Given the description of an element on the screen output the (x, y) to click on. 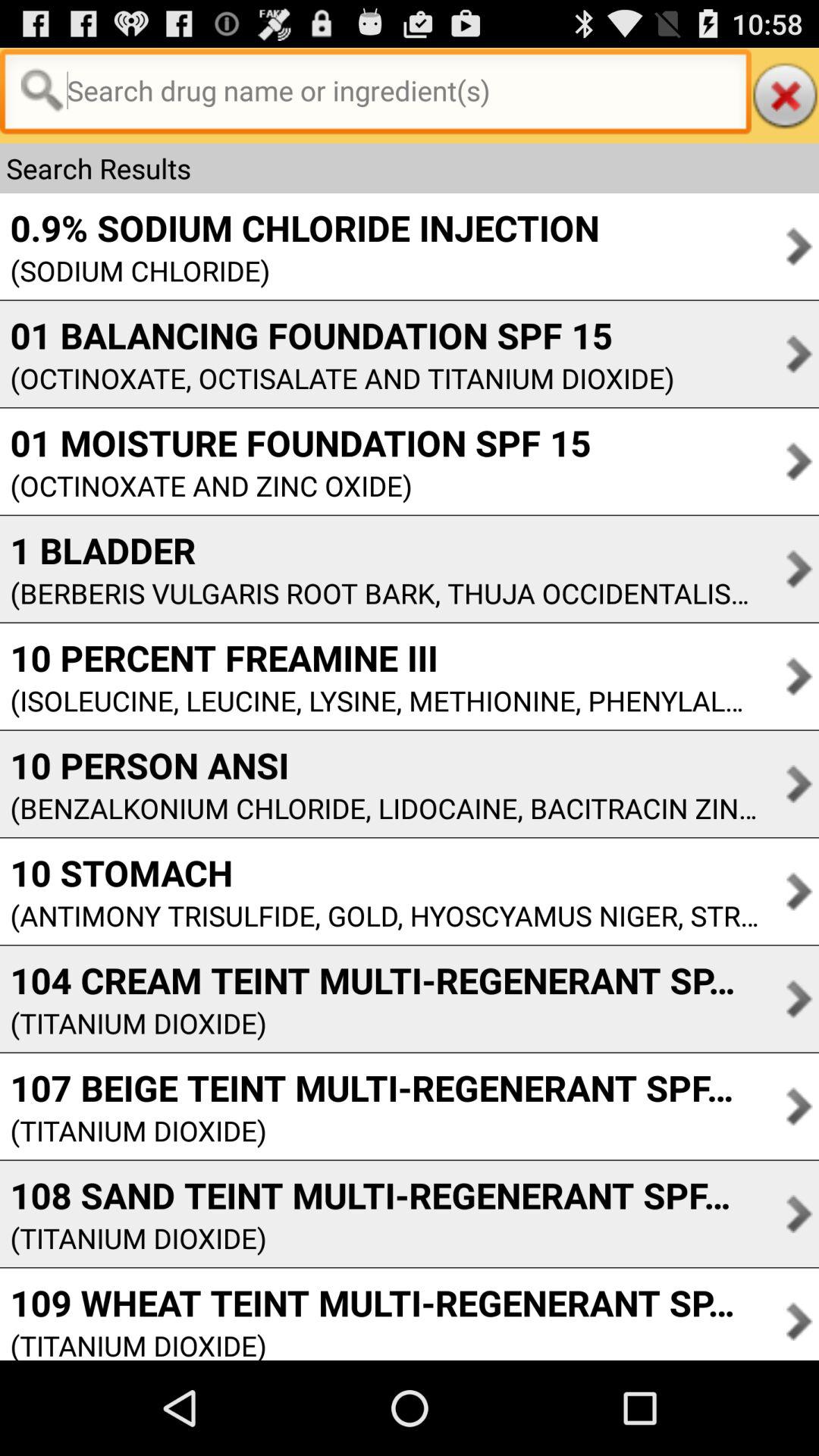
select the icon below the 10 percent freamine (379, 700)
